Given the description of an element on the screen output the (x, y) to click on. 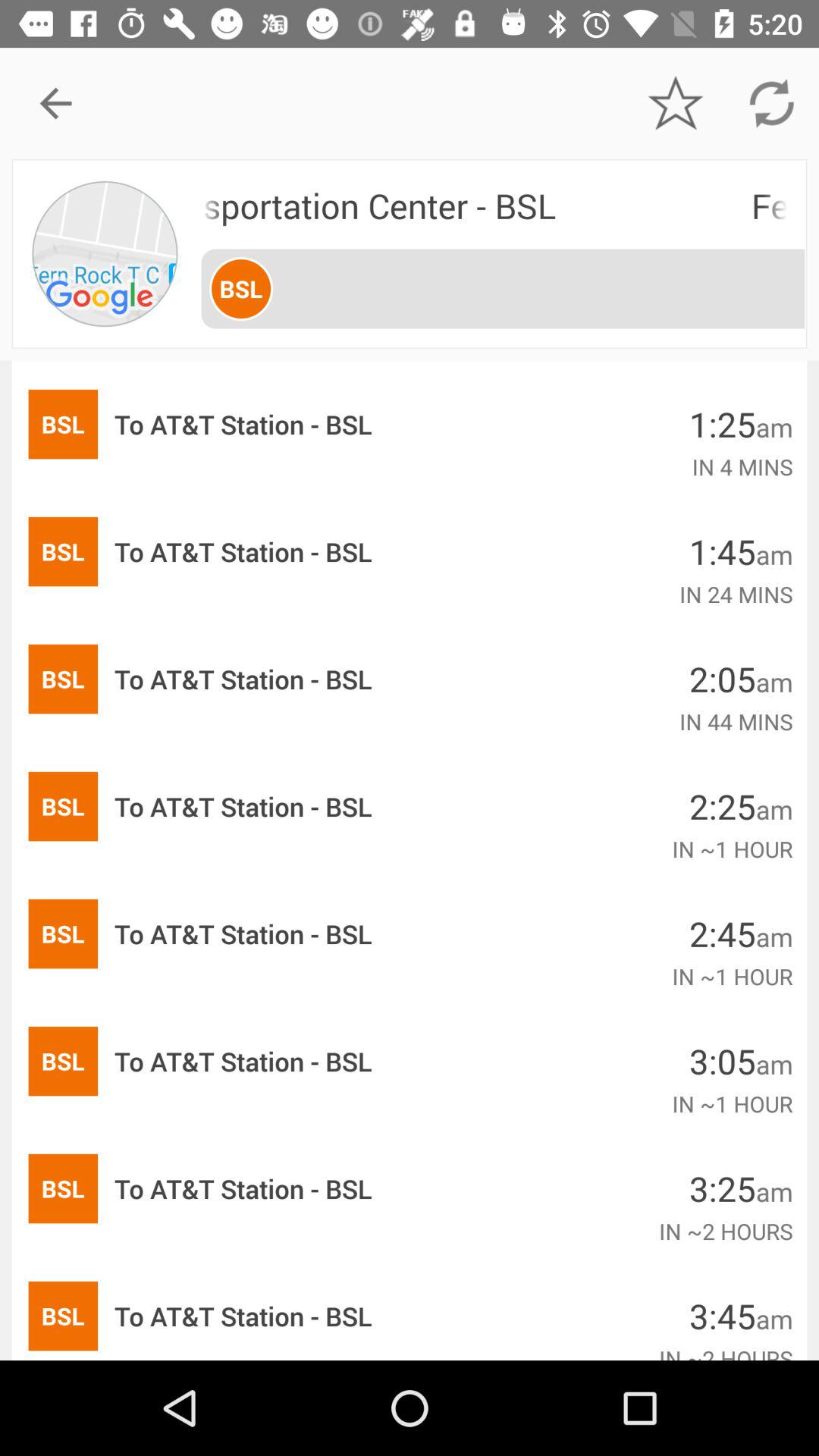
open the item next to the fern rock transportation item (104, 253)
